Given the description of an element on the screen output the (x, y) to click on. 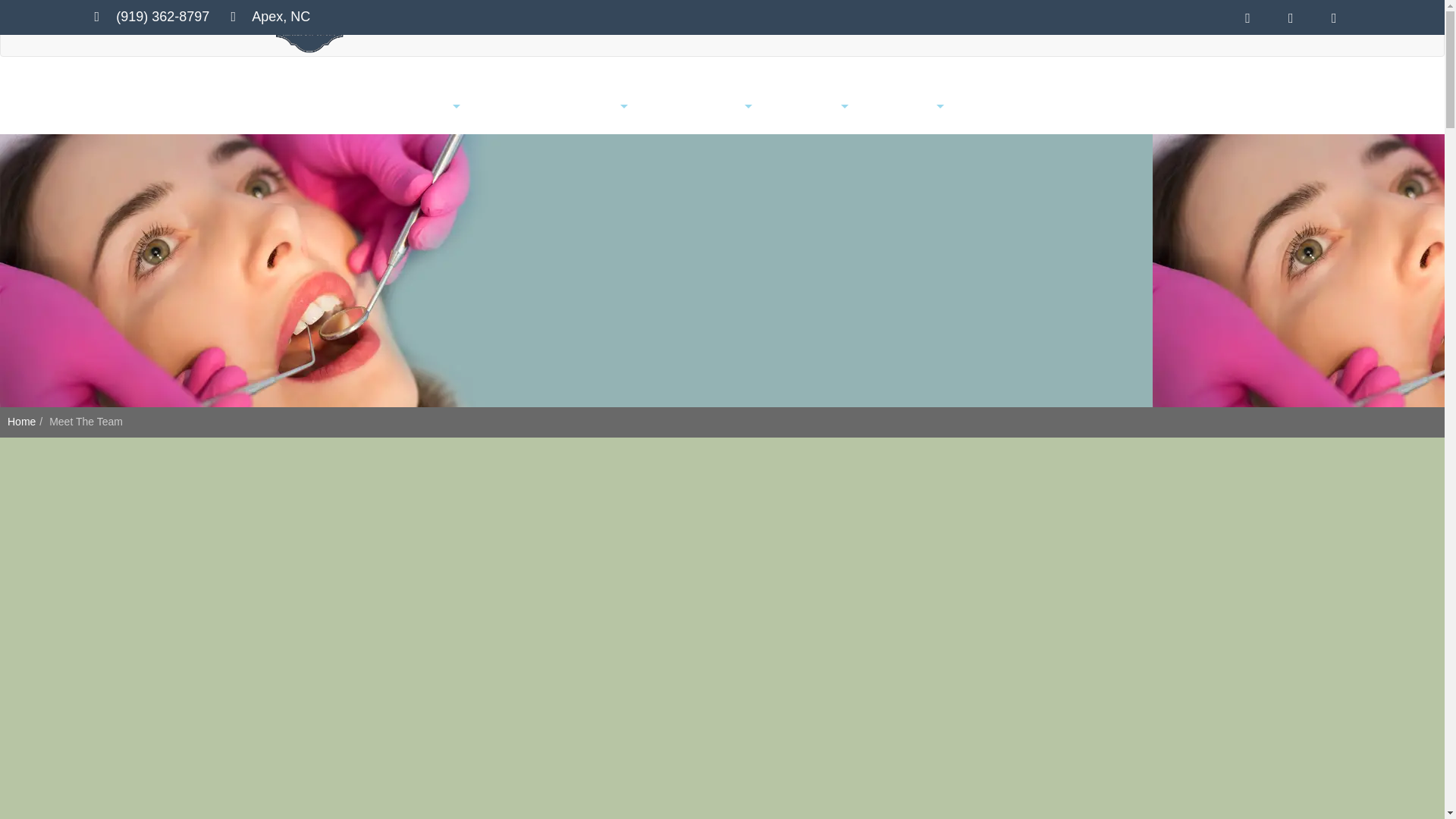
Home (378, 106)
State of the Art Technology (543, 106)
Peak City Family Dentistry (308, 28)
Apex, NC (267, 16)
About (433, 106)
Patient Information (689, 106)
